Given the description of an element on the screen output the (x, y) to click on. 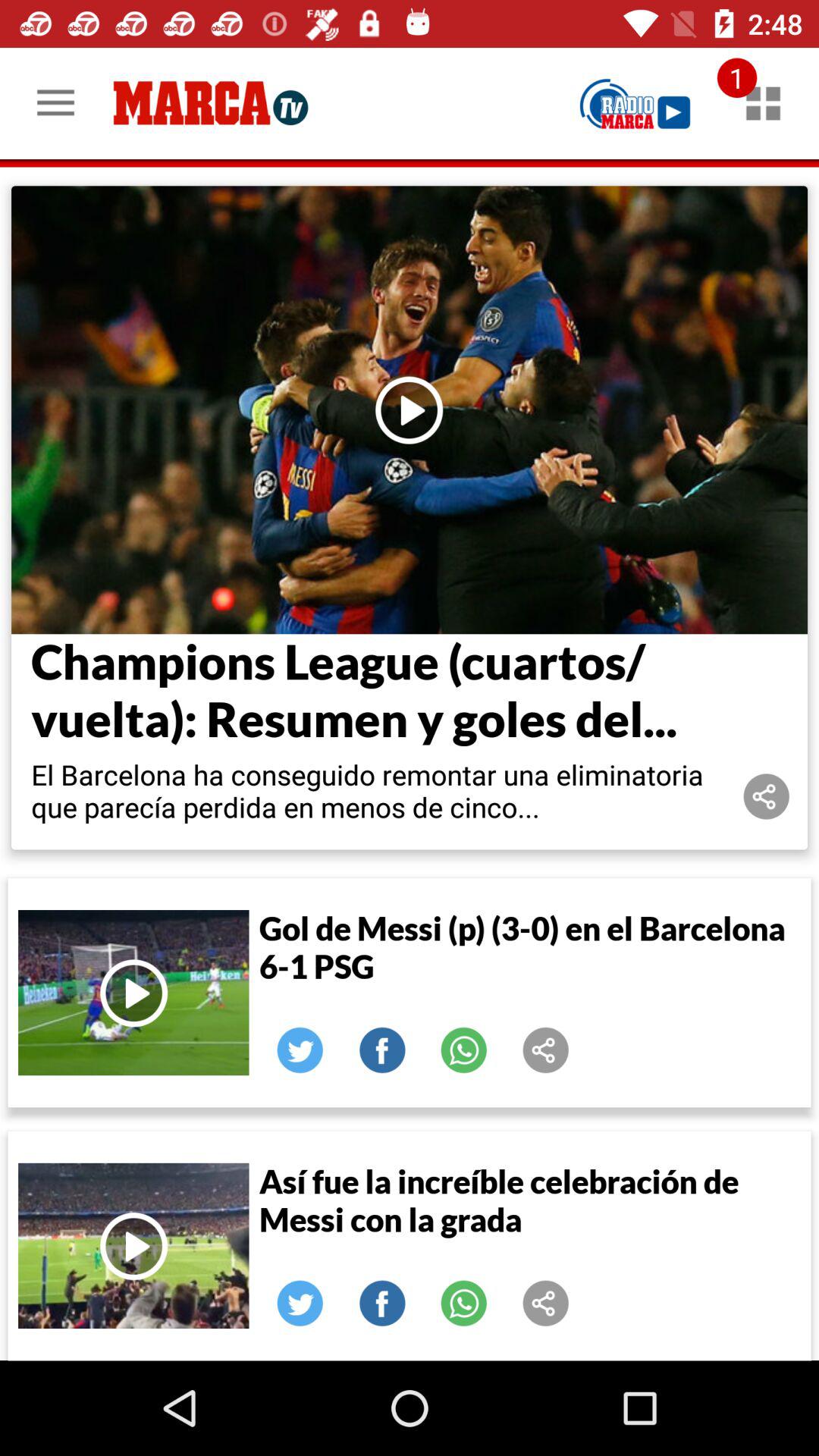
twitter (300, 1303)
